Given the description of an element on the screen output the (x, y) to click on. 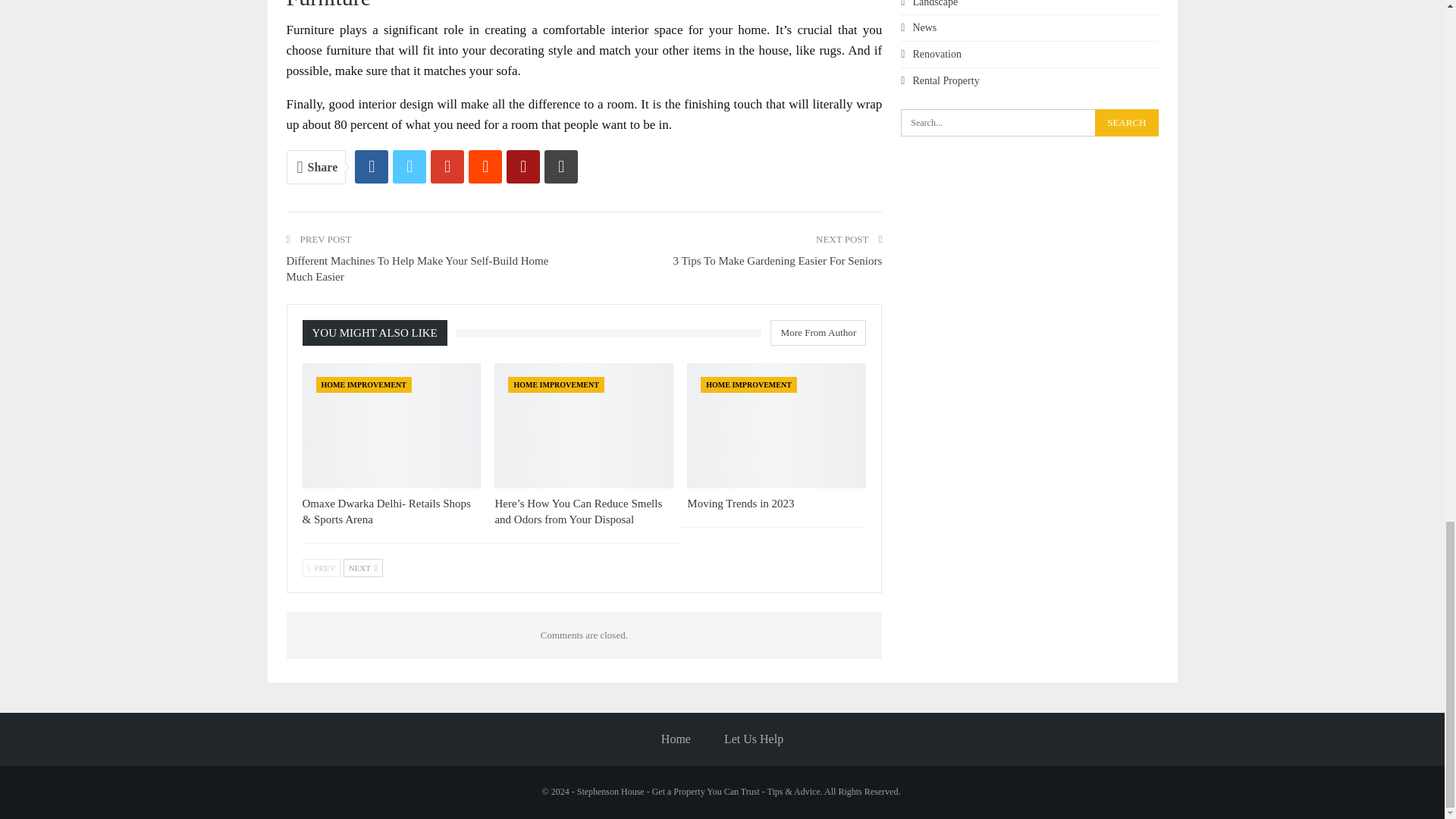
Moving Trends in 2023 (740, 503)
Search (1125, 122)
Previous (320, 567)
Search (1125, 122)
Next (362, 567)
Moving Trends in 2023 (776, 425)
